Given the description of an element on the screen output the (x, y) to click on. 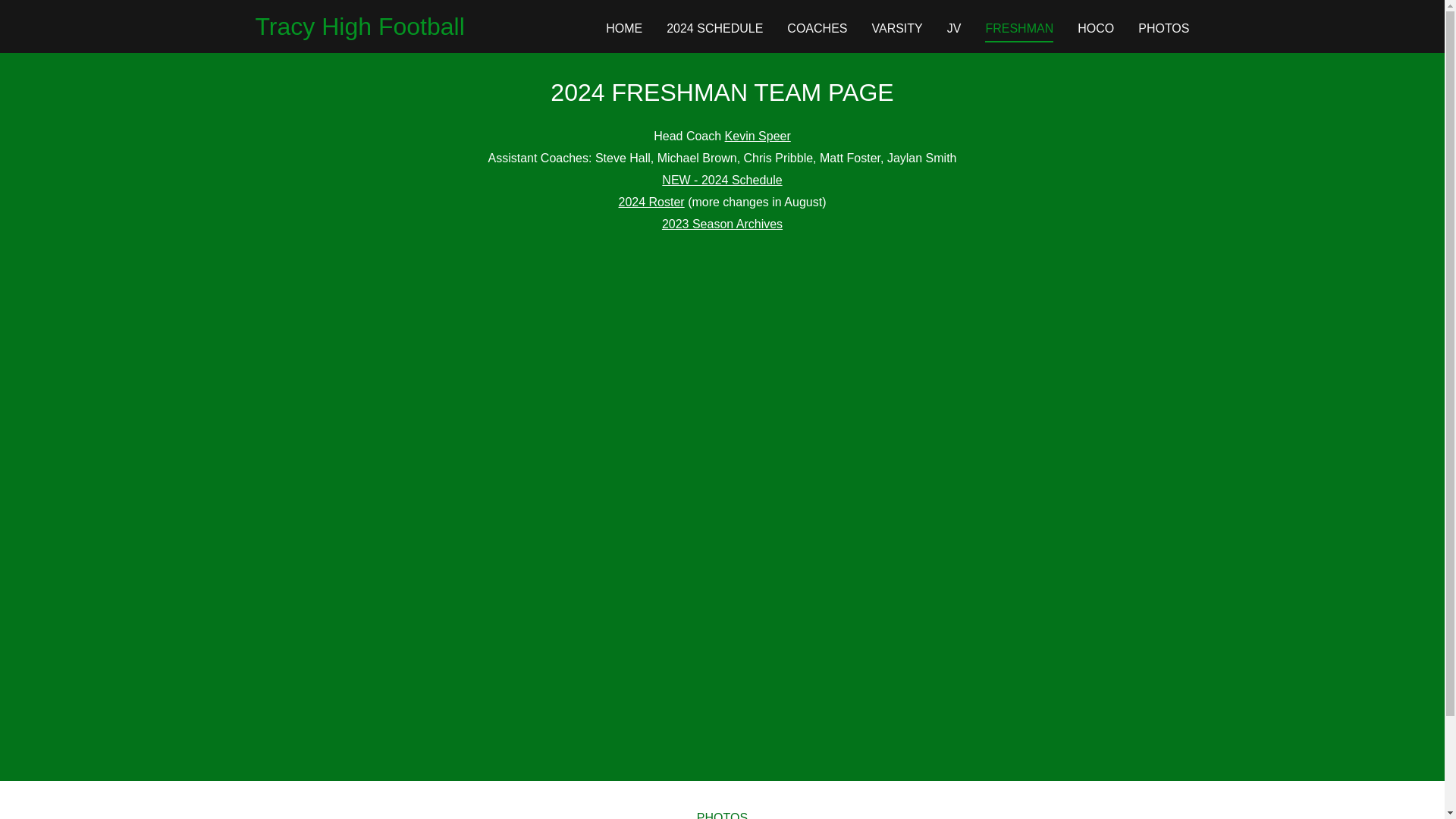
2023 Season Archives (722, 223)
PHOTOS (1163, 27)
PHOTOS (722, 812)
Kevin Speer (757, 135)
Tracy High Football (359, 30)
NEW - 2024 Schedule (721, 179)
JV (954, 27)
HOCO (1095, 27)
2024 SCHEDULE (714, 27)
VARSITY (896, 27)
HOME (623, 27)
Tracy High Football (359, 30)
FRESHMAN (1018, 30)
2024 Roster (651, 201)
COACHES (817, 27)
